Given the description of an element on the screen output the (x, y) to click on. 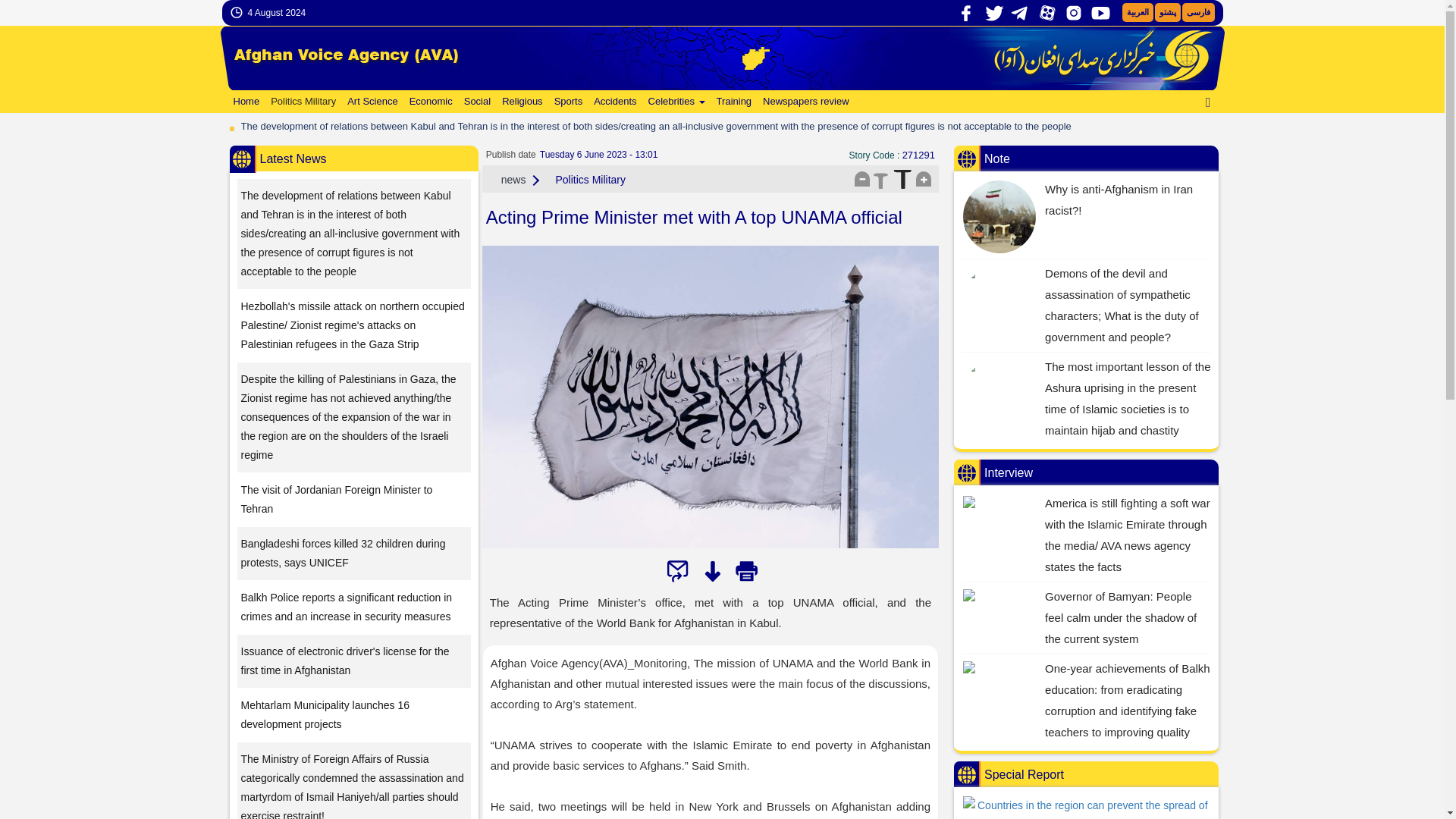
Politics Military (301, 101)
Downloading the File (711, 570)
Print Edition (746, 570)
Celebrities (674, 101)
Art Science (370, 101)
Training (732, 101)
Send to a Friend (678, 570)
Sports (566, 101)
Economic (429, 101)
Social (476, 101)
Religious (520, 101)
Home (244, 101)
Accidents (613, 101)
Newspapers review (803, 101)
